Given the description of an element on the screen output the (x, y) to click on. 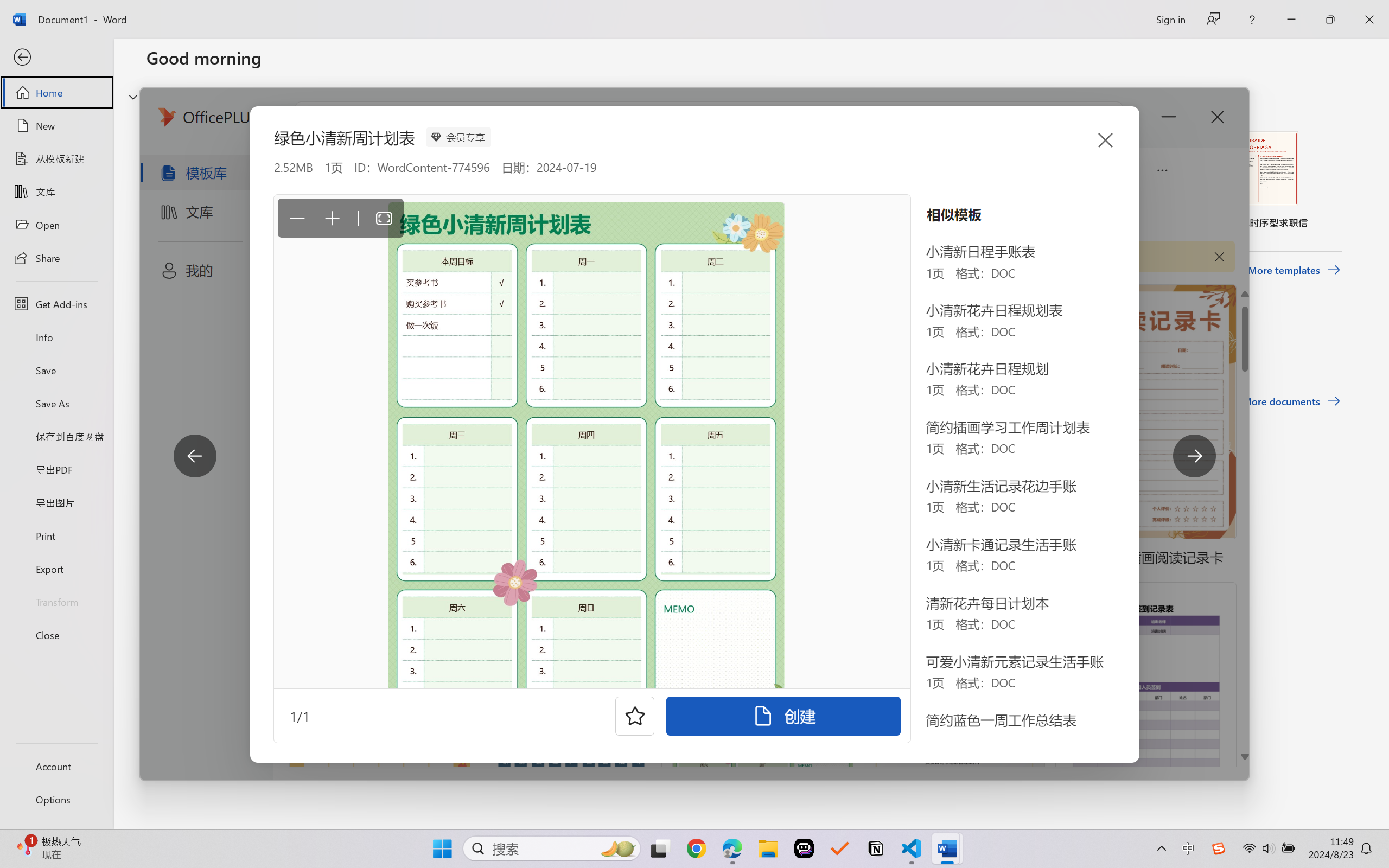
Recent (171, 345)
Export (56, 568)
